Given the description of an element on the screen output the (x, y) to click on. 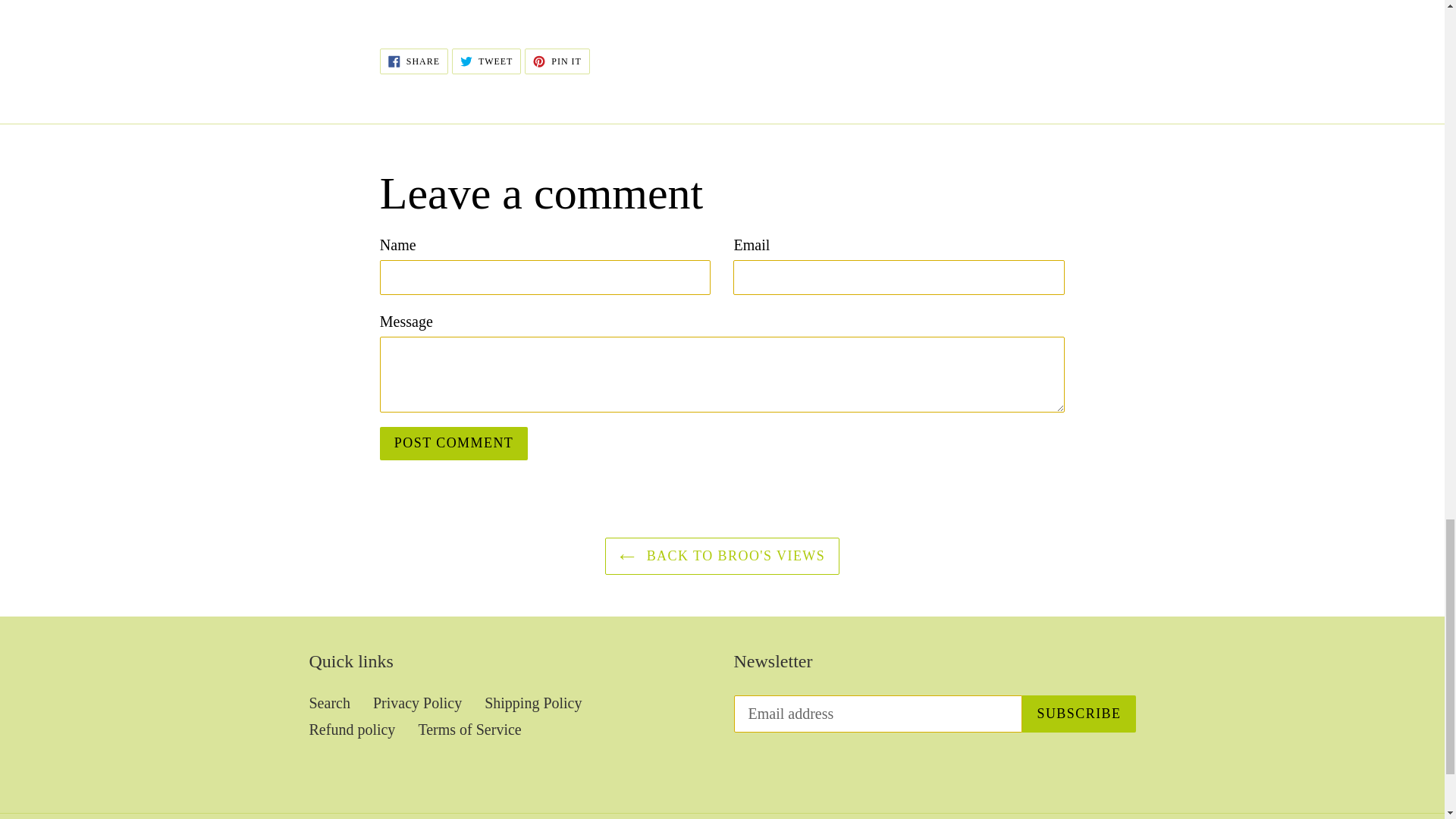
Post comment (486, 61)
BACK TO BROO'S VIEWS (414, 61)
Post comment (453, 443)
Search (556, 61)
